Given the description of an element on the screen output the (x, y) to click on. 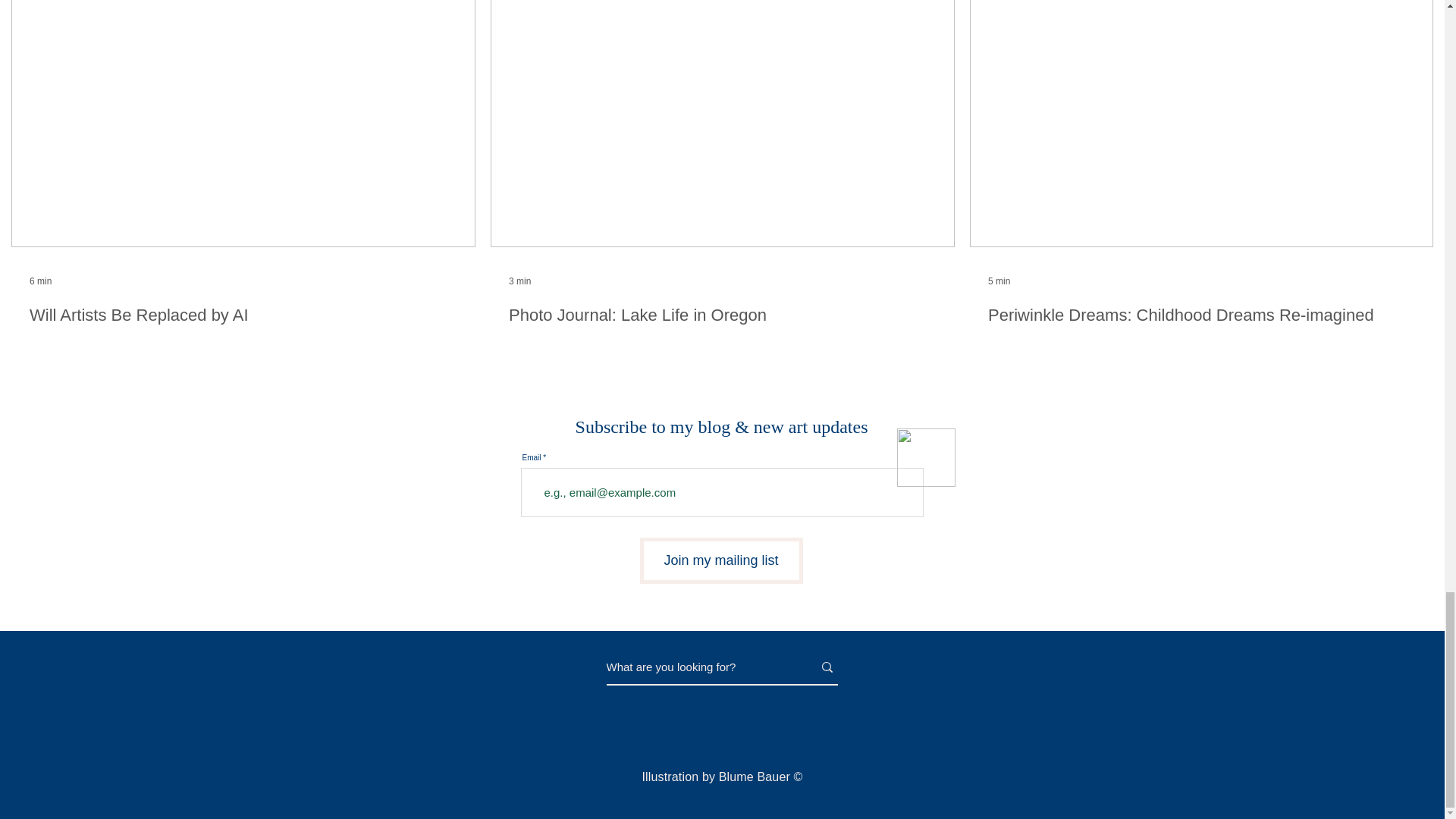
Will Artists Be Replaced by AI (243, 315)
Photo Journal: Lake Life in Oregon (722, 315)
5 min (999, 281)
Join my mailing list (721, 560)
Periwinkle Dreams: Childhood Dreams Re-imagined (1201, 315)
3 min (519, 281)
6 min (39, 281)
